Given the description of an element on the screen output the (x, y) to click on. 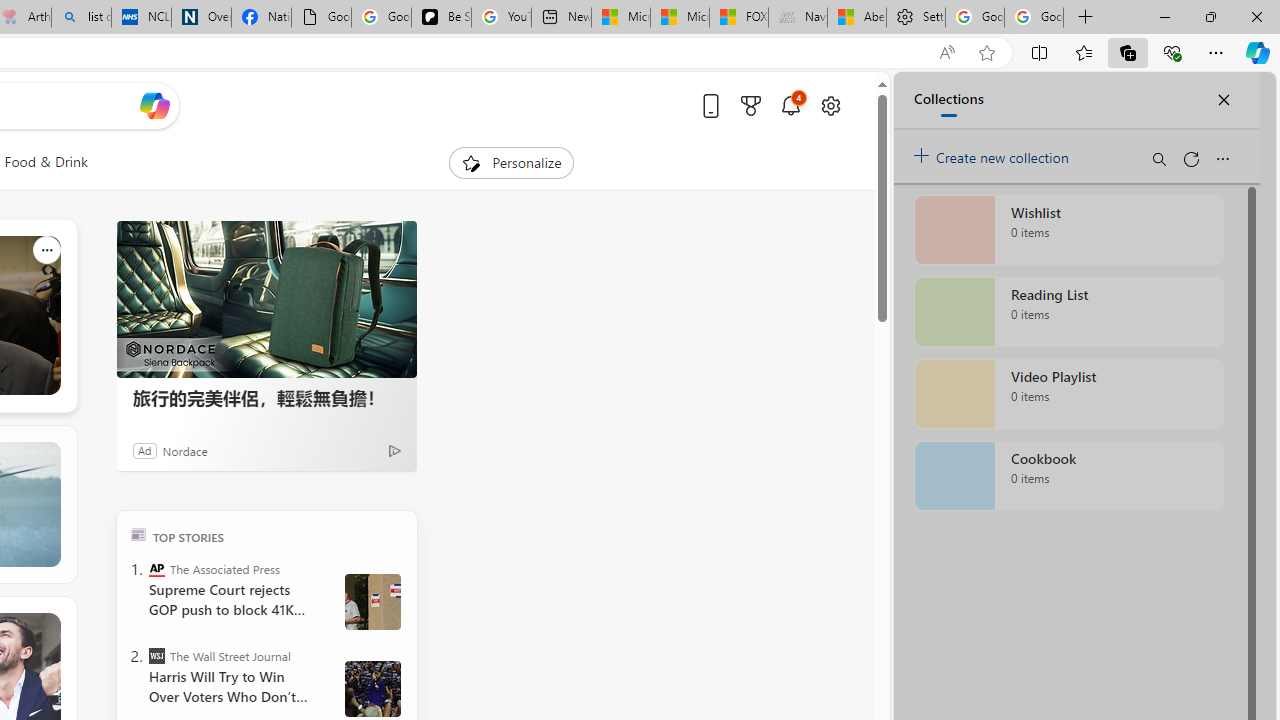
The Wall Street Journal (156, 655)
